Given the description of an element on the screen output the (x, y) to click on. 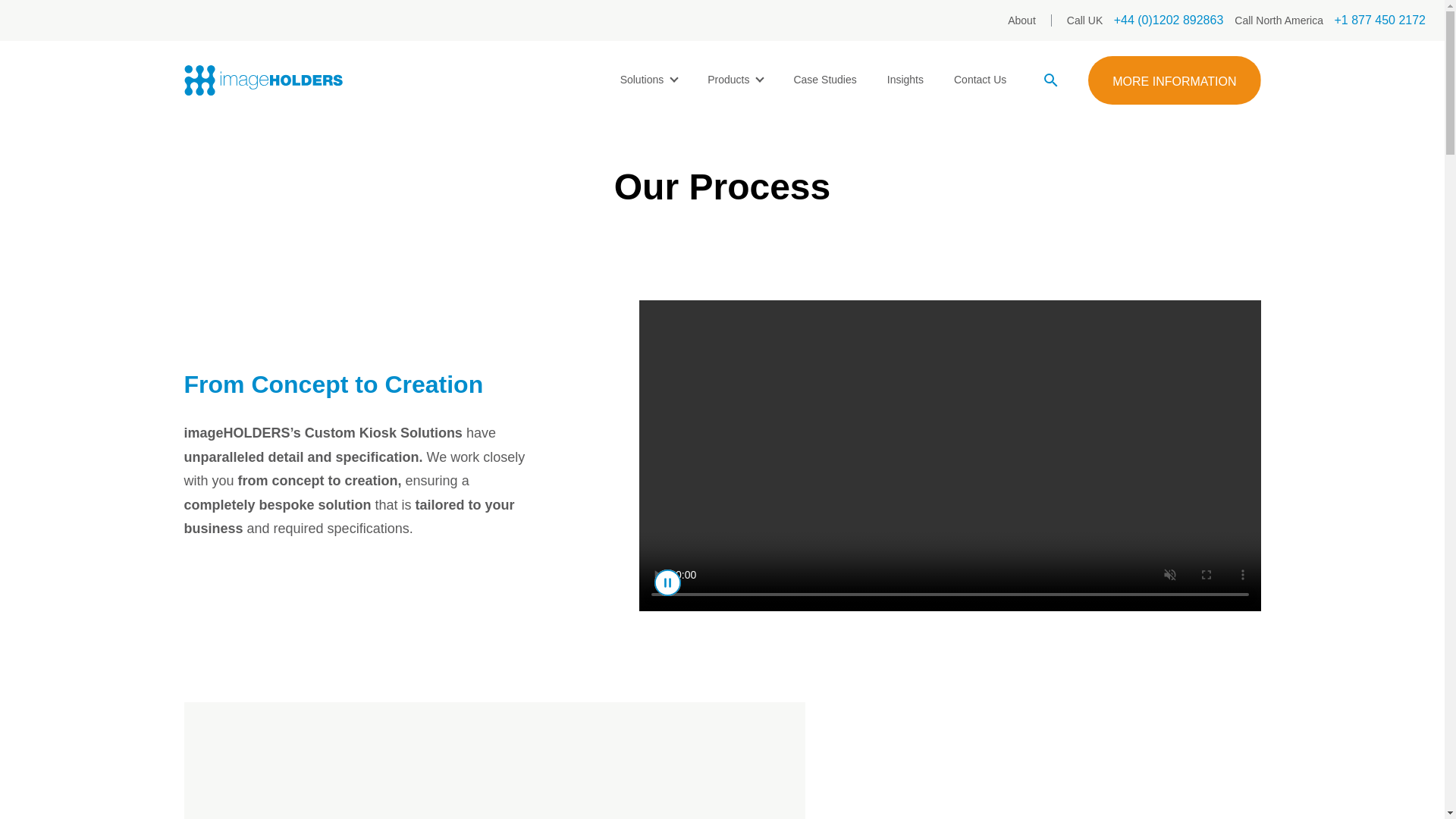
imageHOLDERS Homepage (262, 80)
Solutions (649, 79)
About (1021, 20)
